Given the description of an element on the screen output the (x, y) to click on. 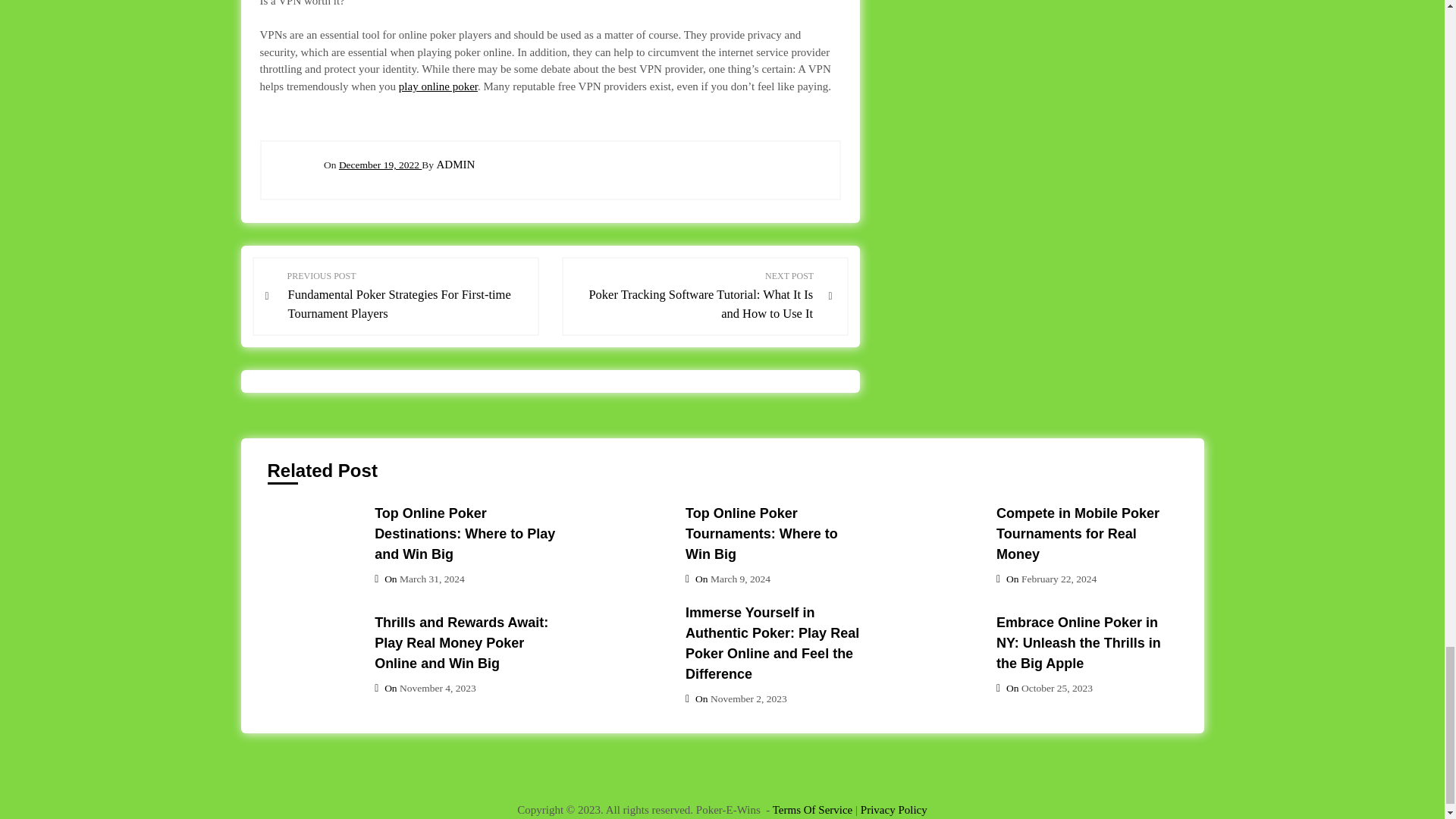
play online poker (437, 86)
